Given the description of an element on the screen output the (x, y) to click on. 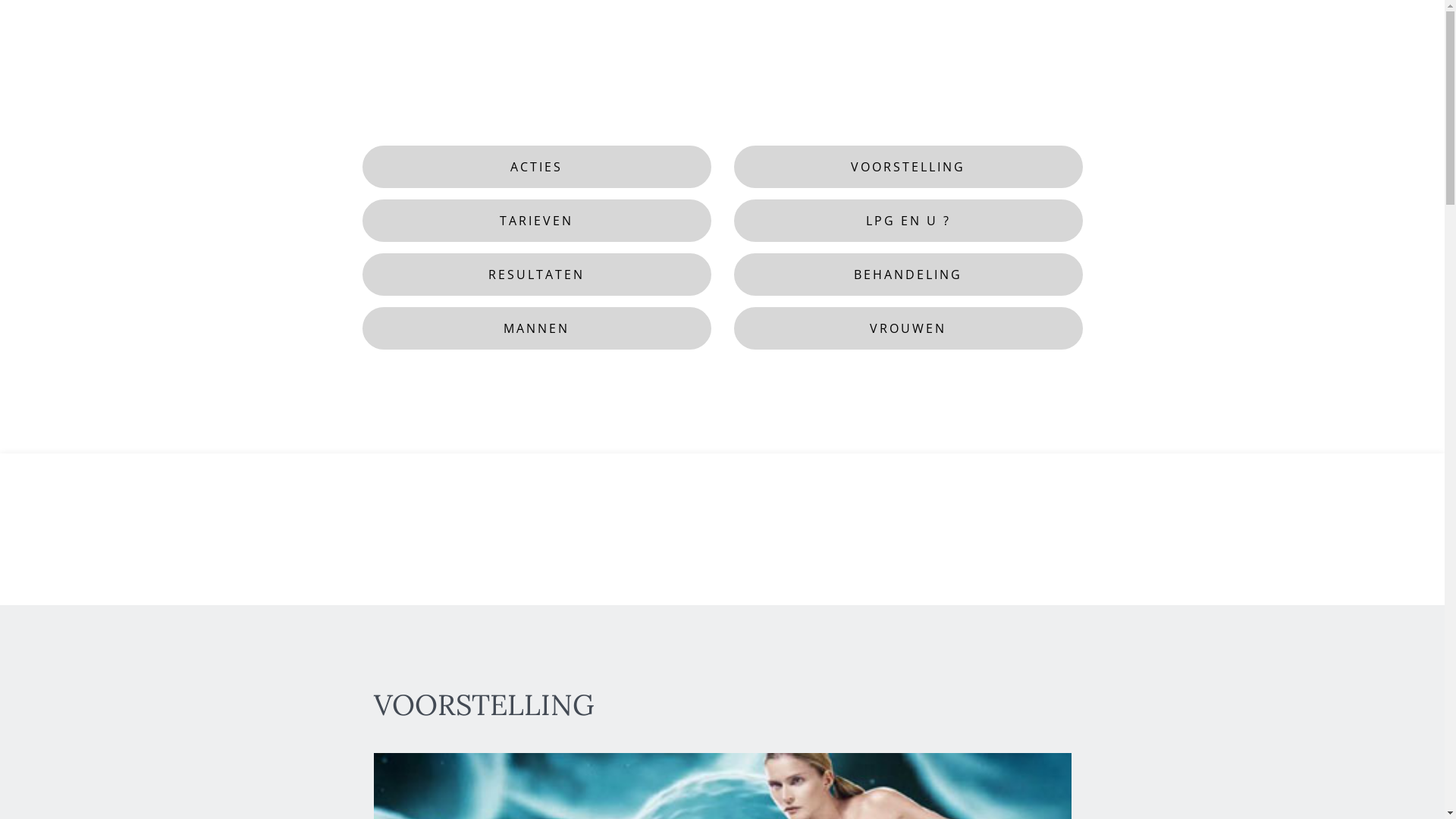
TARIEVEN Element type: text (536, 220)
VOORSTELLING Element type: text (908, 166)
VROUWEN Element type: text (908, 328)
MANNEN Element type: text (536, 328)
RESULTATEN Element type: text (536, 274)
ACTIES Element type: text (536, 166)
BEHANDELING Element type: text (908, 274)
LPG EN U ? Element type: text (908, 220)
